Given the description of an element on the screen output the (x, y) to click on. 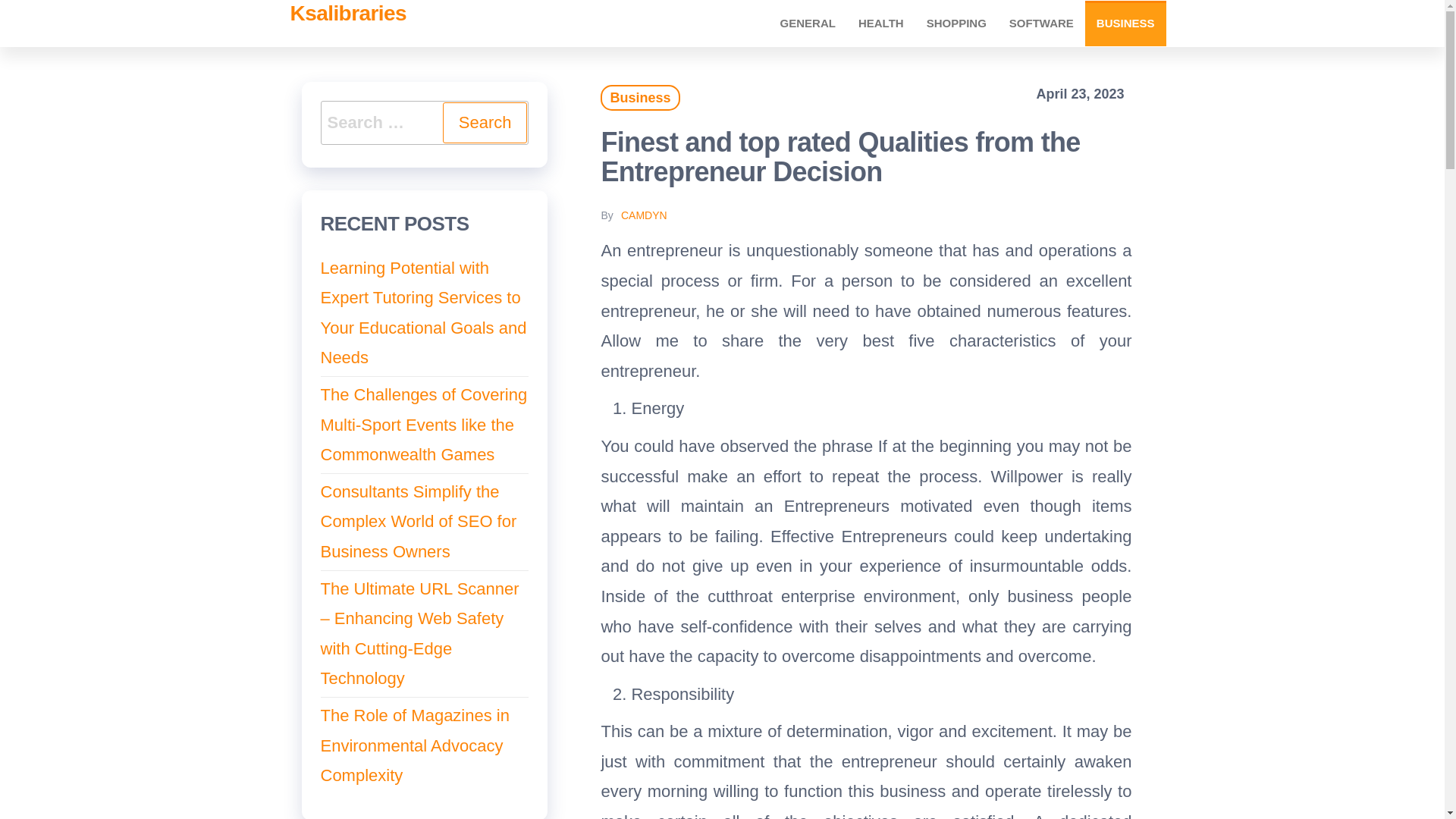
Search (484, 122)
Ksalibraries (347, 13)
Search (484, 122)
HEALTH (881, 22)
Search (484, 122)
Software (1040, 22)
SOFTWARE (1040, 22)
Business (639, 97)
